Given the description of an element on the screen output the (x, y) to click on. 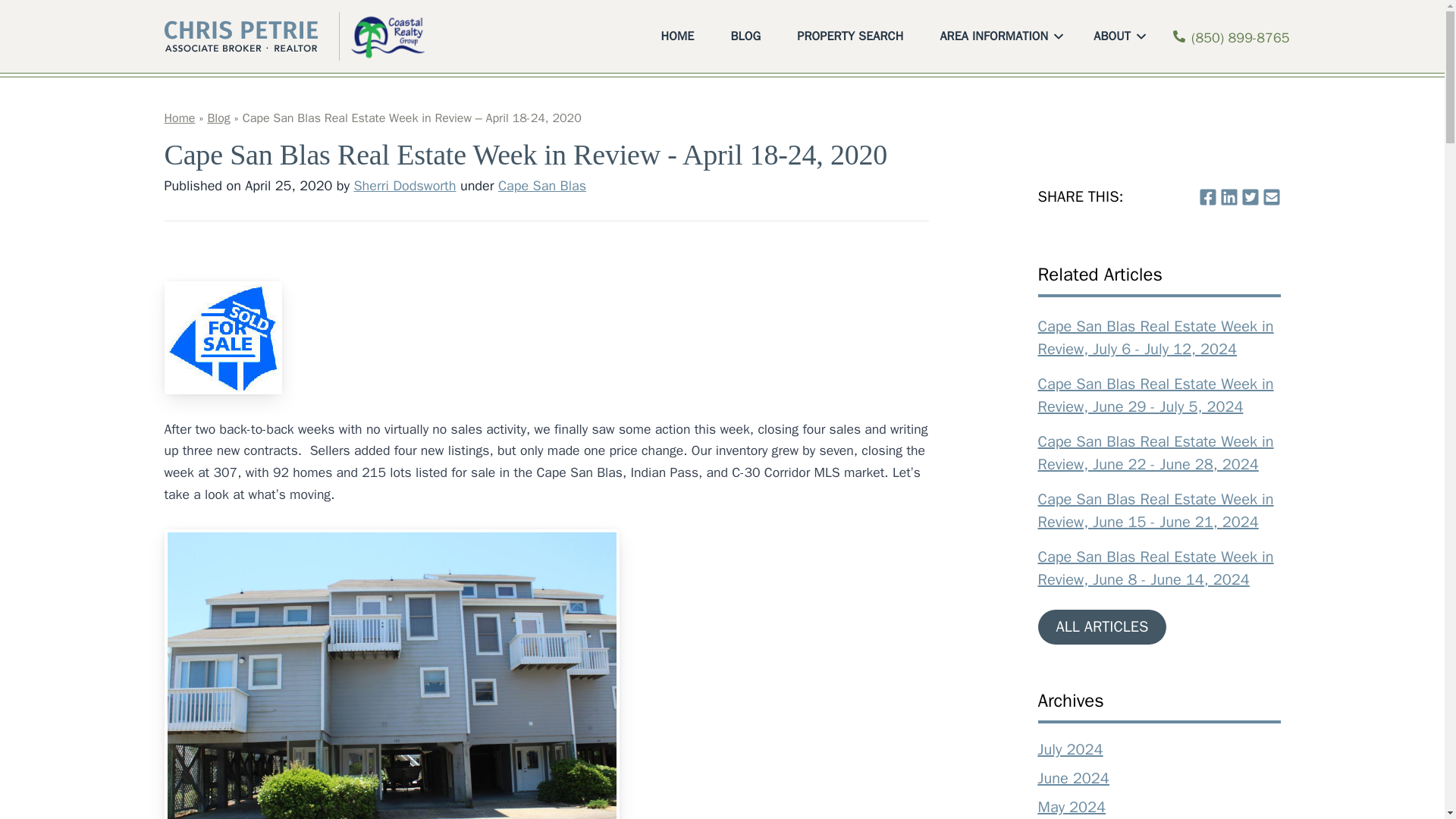
BLOG (747, 36)
Sherri Dodsworth (404, 185)
Blog (218, 118)
ALL ARTICLES (1101, 626)
June 2024 (1072, 778)
Home (179, 118)
PROPERTY SEARCH (852, 36)
Cape San Blas (541, 185)
May 2024 (1070, 806)
AREA INFORMATION (1001, 36)
ABOUT (1119, 36)
July 2024 (1069, 749)
HOME (681, 36)
